Given the description of an element on the screen output the (x, y) to click on. 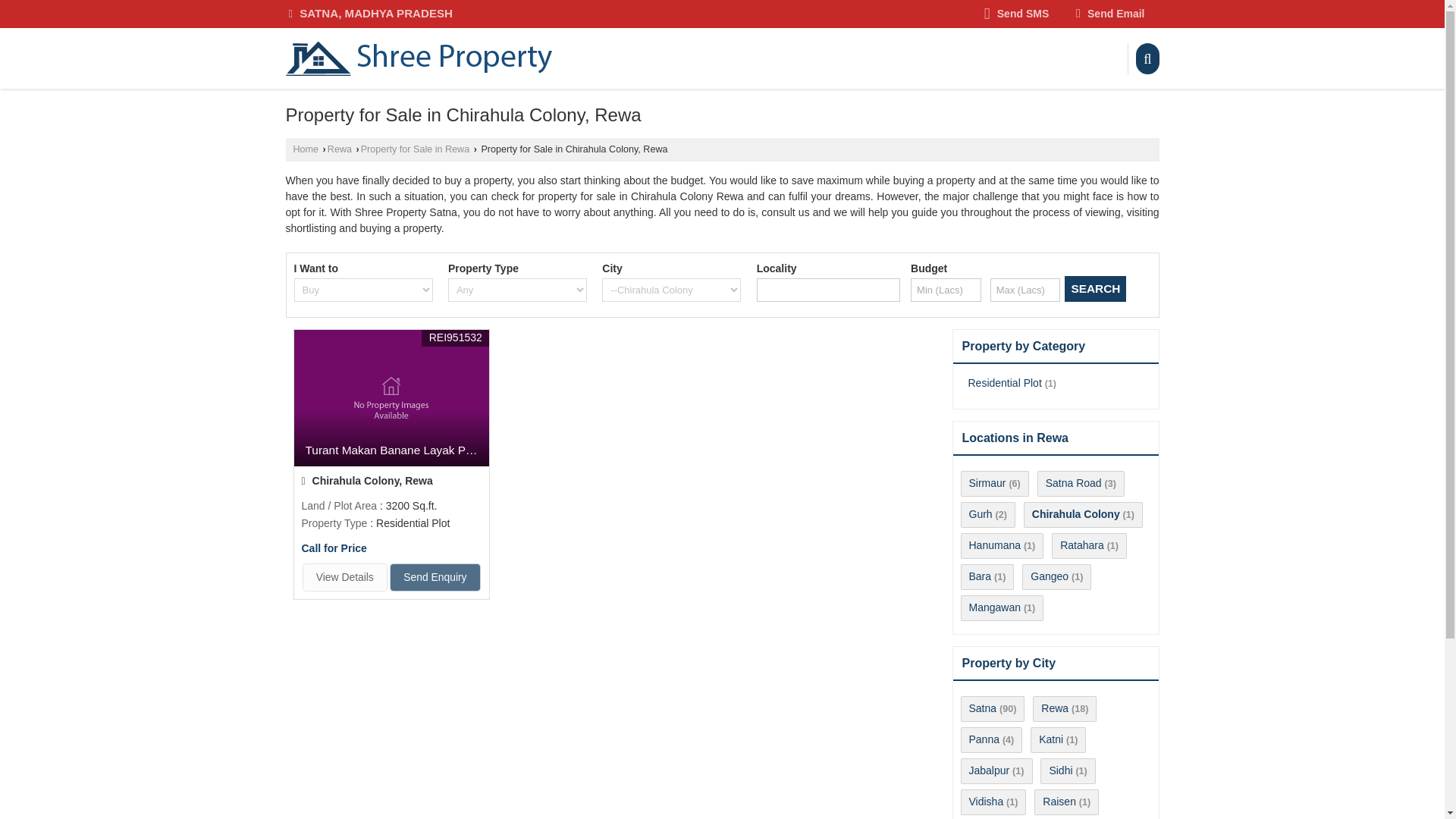
Send Email (1110, 14)
Shree Property (418, 58)
SEARCH (1094, 289)
Send SMS (1015, 14)
Shree Property (418, 58)
